Given the description of an element on the screen output the (x, y) to click on. 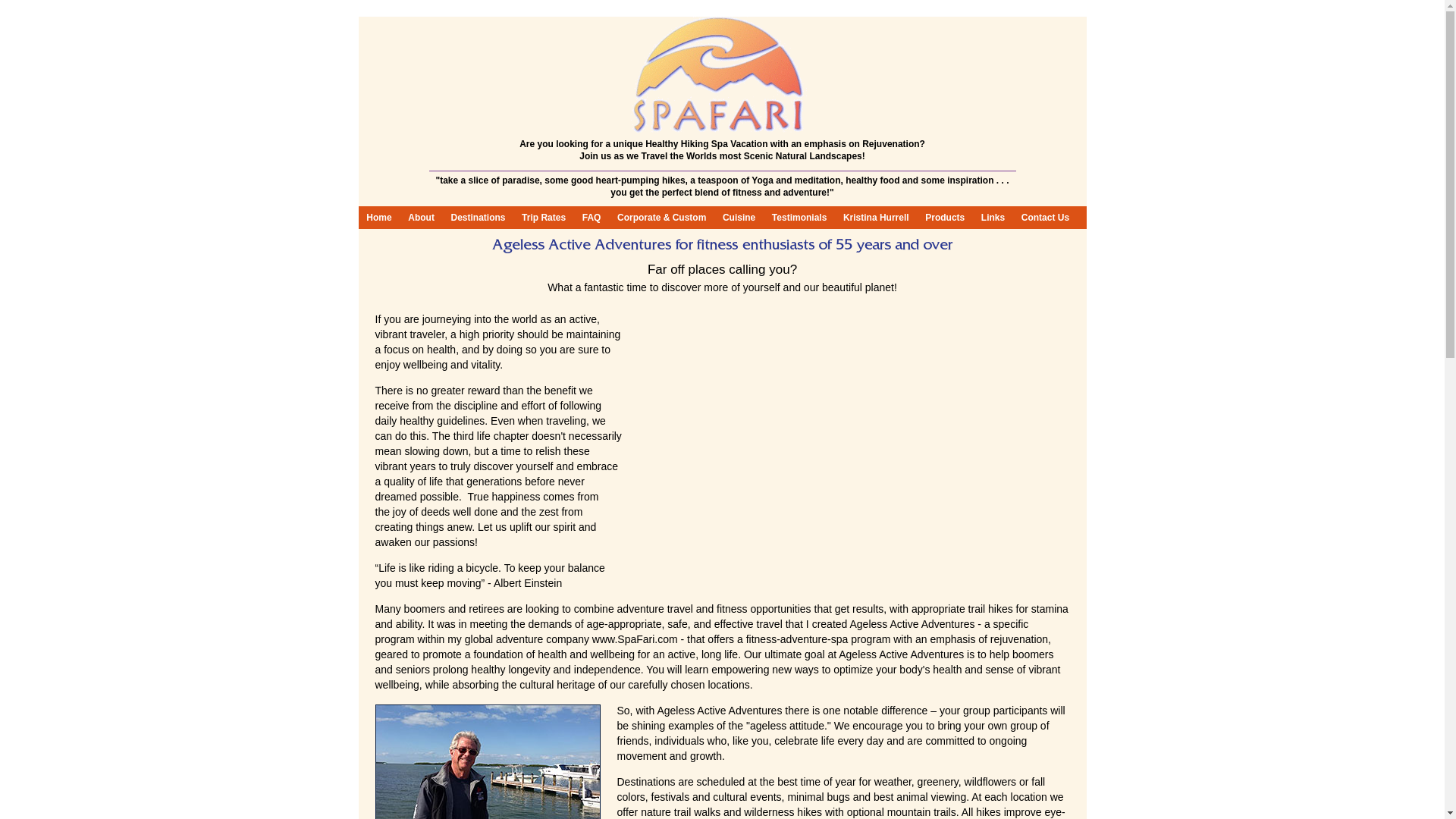
Contact Us (1045, 217)
Destinations (477, 217)
Products (944, 217)
Home (378, 217)
Testimonials (798, 217)
FAQ (590, 217)
Links (992, 217)
Cuisine (738, 217)
About (420, 217)
Kristina Hurrell (875, 217)
